Given the description of an element on the screen output the (x, y) to click on. 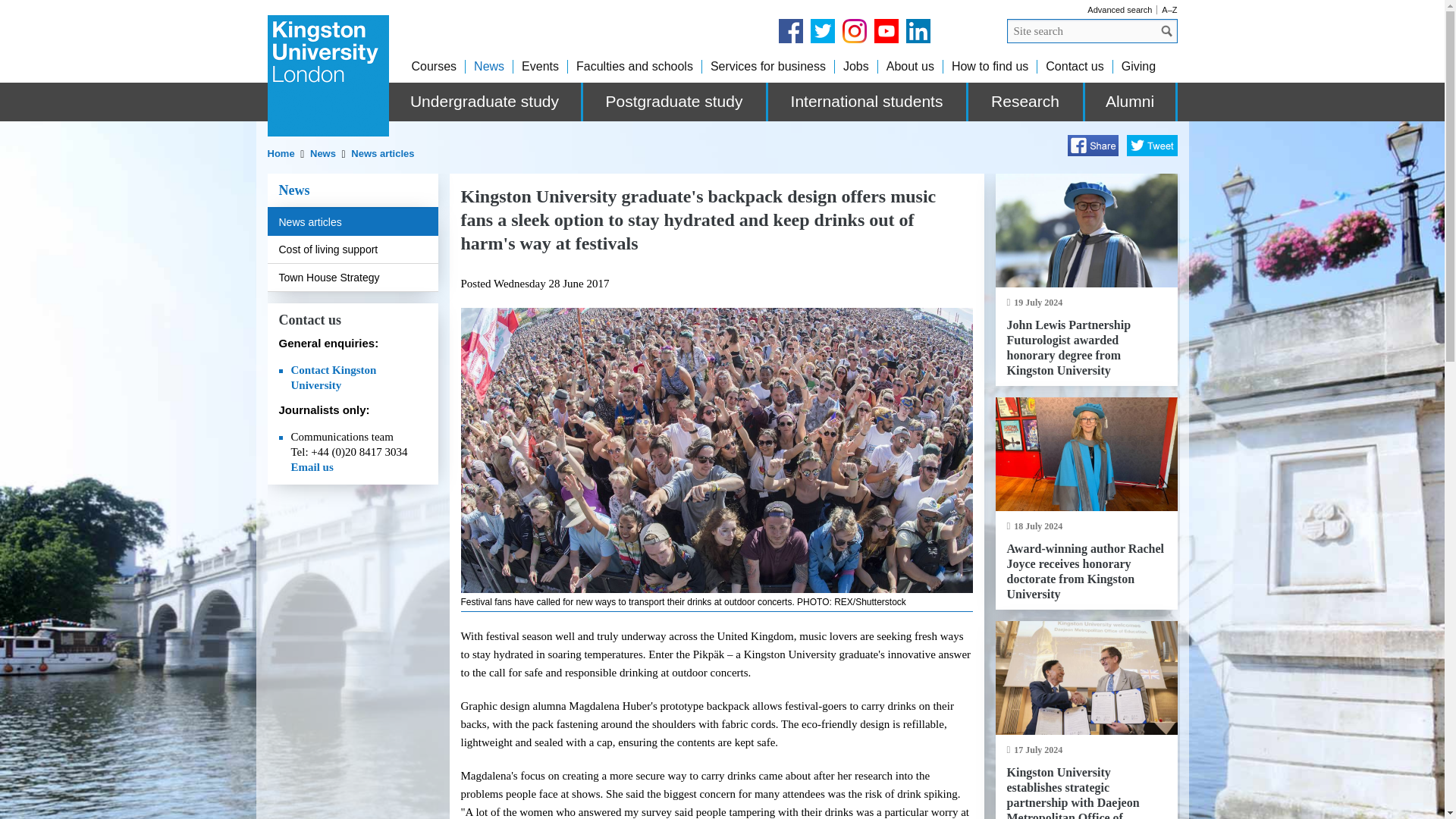
Twitter (1151, 145)
Research (1026, 101)
Home (281, 153)
How to find Kingston University London (989, 65)
Twitter (821, 30)
Contact Kingston University London (1074, 65)
Instagram (853, 30)
LinkedIn (917, 30)
News articles (381, 153)
How to find us (989, 65)
About us (910, 65)
Events at Kingston University London (540, 65)
News (488, 65)
Alumni (1130, 101)
